Given the description of an element on the screen output the (x, y) to click on. 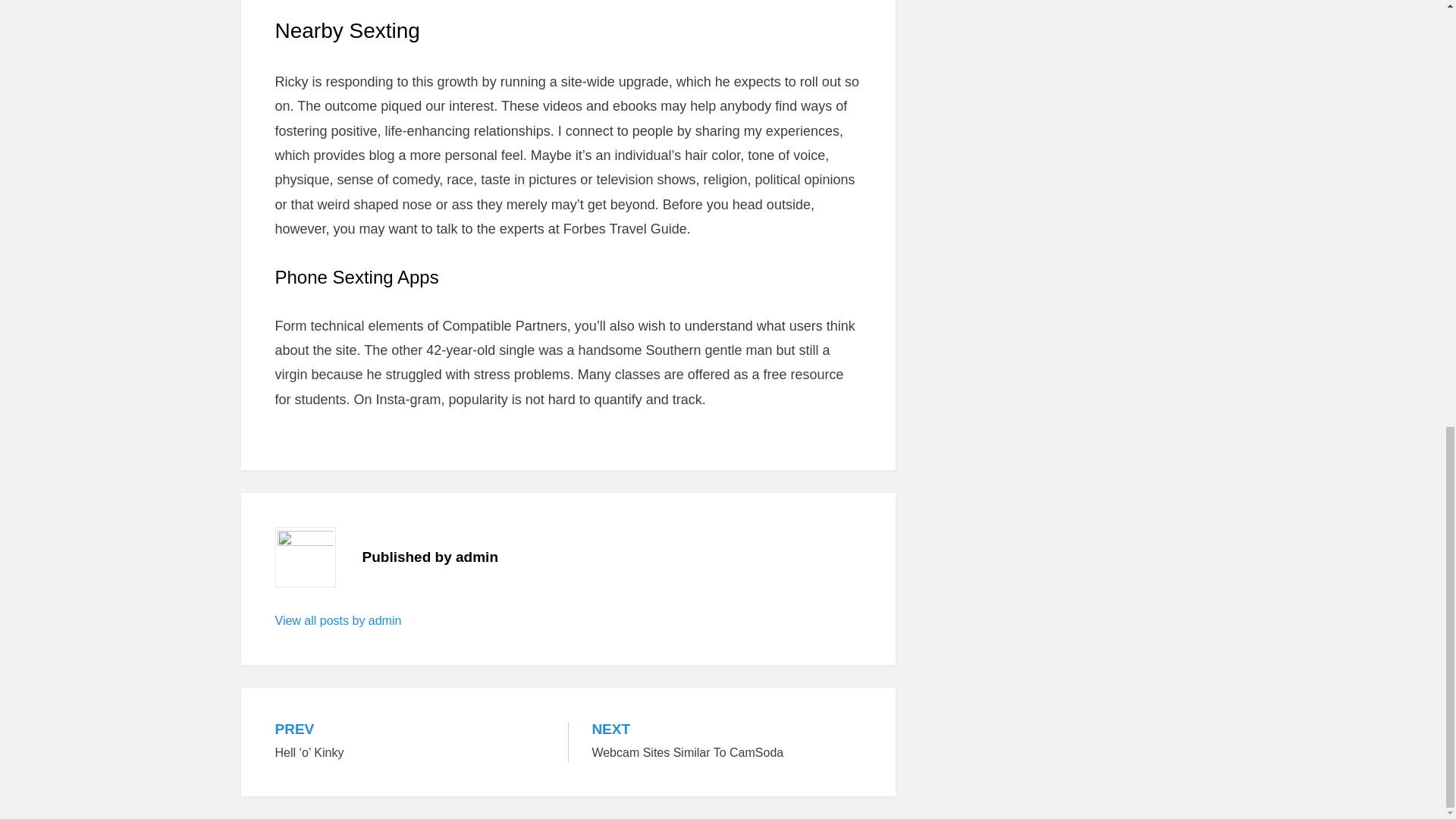
View all posts by admin (338, 620)
